Given the description of an element on the screen output the (x, y) to click on. 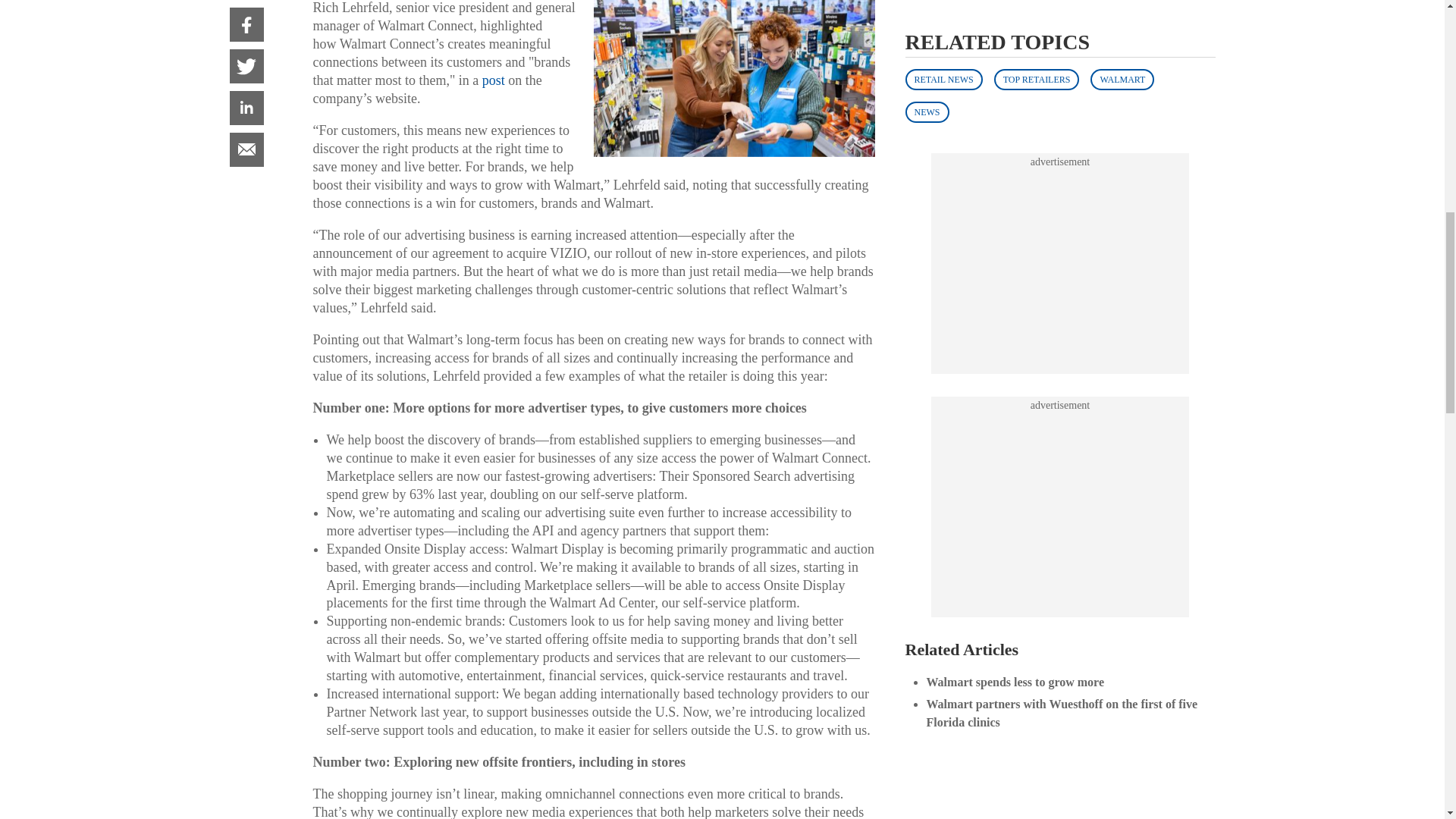
3rd party ad content (1059, 48)
3rd party ad content (1059, 246)
post (493, 79)
